Given the description of an element on the screen output the (x, y) to click on. 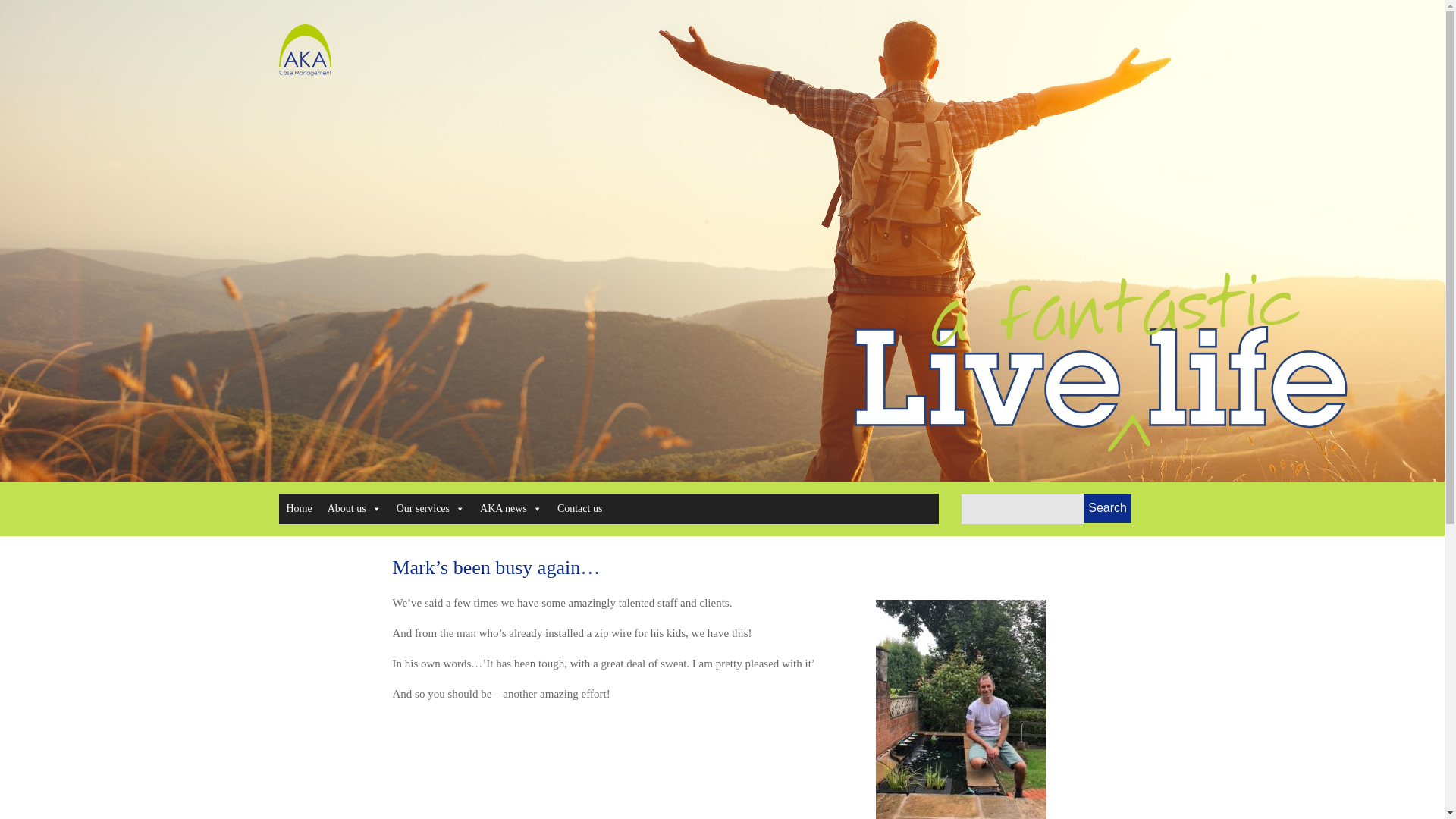
Our services (429, 508)
AKA news (510, 508)
Search (1107, 508)
Contact us (580, 508)
Home (299, 508)
Search (1107, 508)
About us (354, 508)
